Given the description of an element on the screen output the (x, y) to click on. 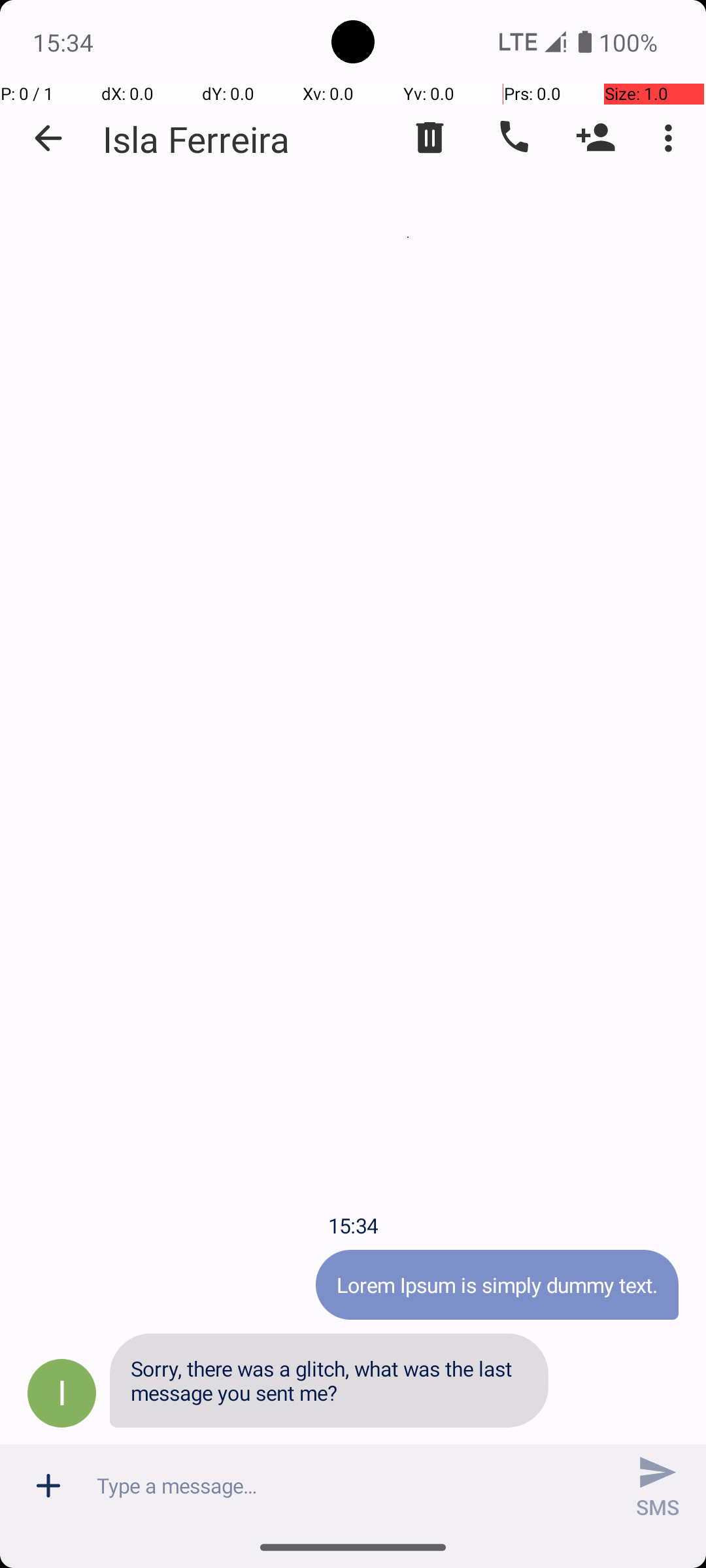
Isla Ferreira Element type: android.widget.TextView (195, 138)
Lorem Ipsum is simply dummy text. Element type: android.widget.TextView (496, 1284)
